Given the description of an element on the screen output the (x, y) to click on. 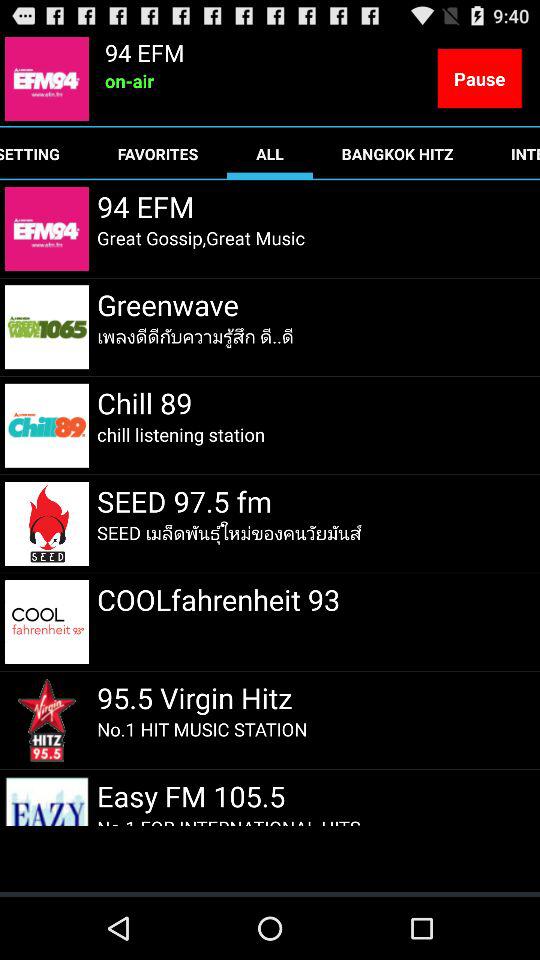
press item to the left of bangkok hitz (269, 153)
